Given the description of an element on the screen output the (x, y) to click on. 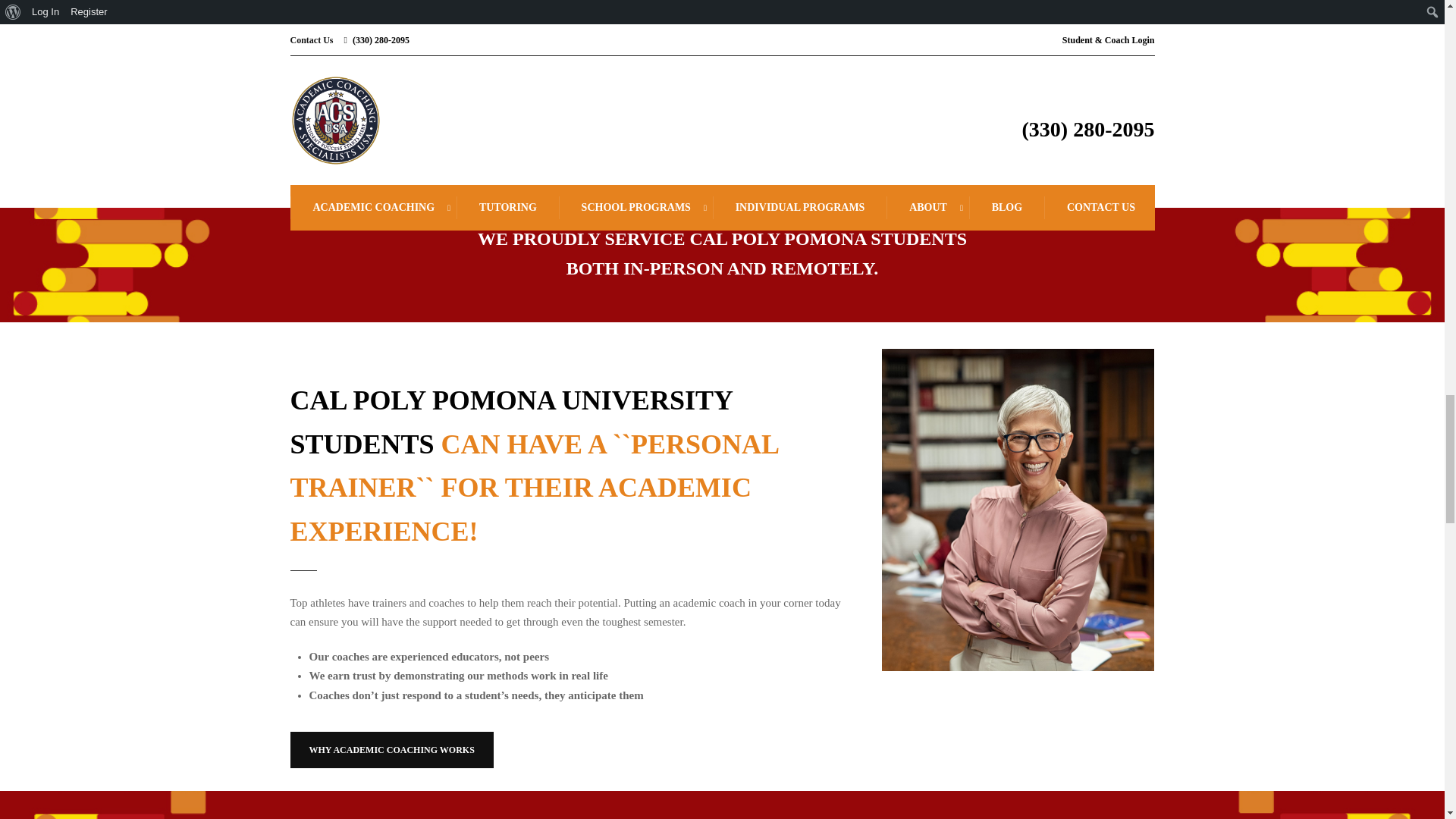
Become-academic-coach (1017, 509)
